Given the description of an element on the screen output the (x, y) to click on. 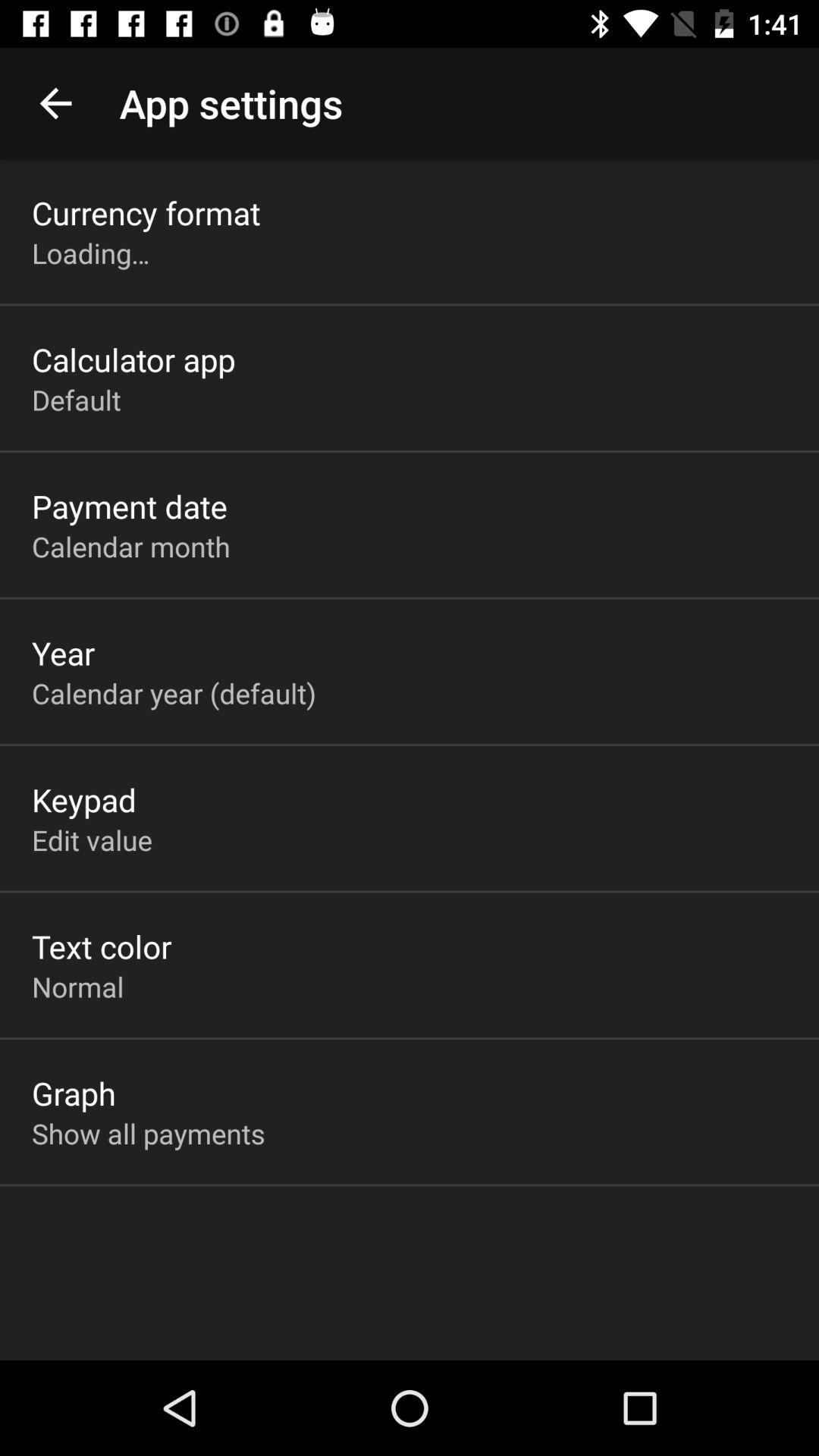
tap item above the graph item (77, 986)
